Given the description of an element on the screen output the (x, y) to click on. 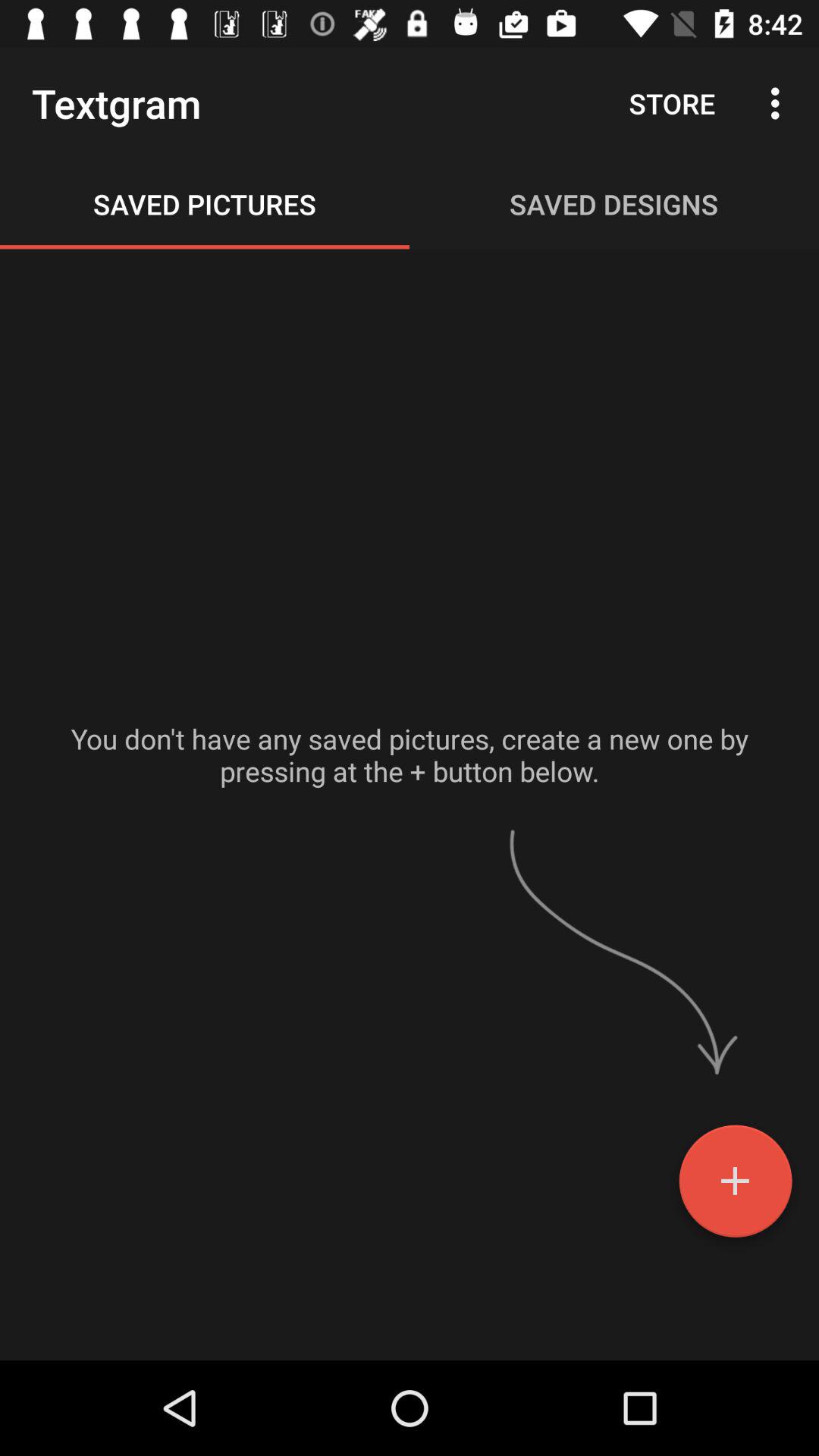
scroll to the store icon (672, 103)
